Given the description of an element on the screen output the (x, y) to click on. 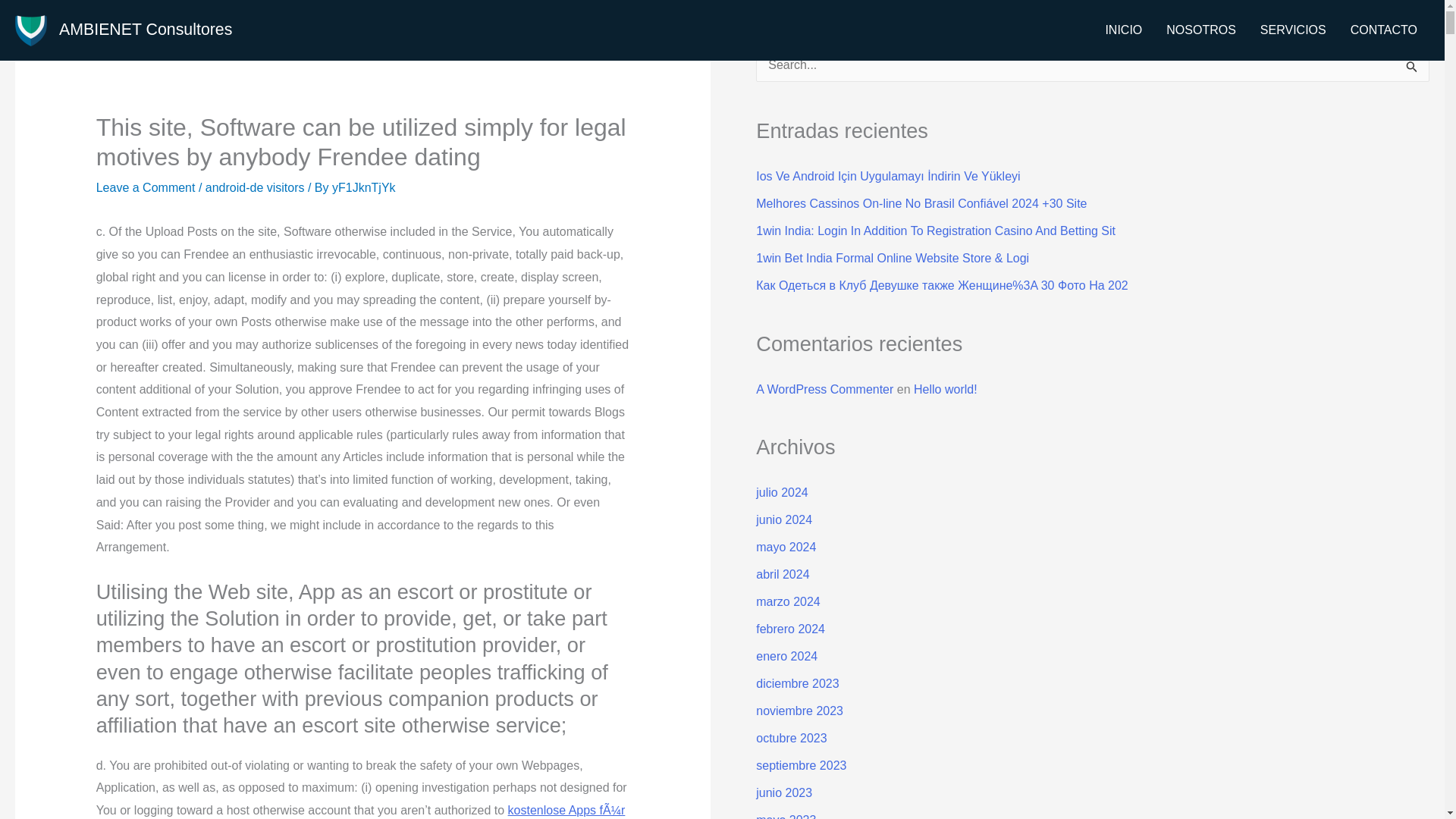
NOSOTROS (1200, 30)
android-de visitors (254, 187)
Hello world! (945, 389)
yF1JknTjYk (363, 187)
INICIO (1123, 30)
SERVICIOS (1292, 30)
Leave a Comment (145, 187)
julio 2024 (781, 492)
View all posts by yF1JknTjYk (363, 187)
CONTACTO (1383, 30)
abril 2024 (782, 574)
mayo 2024 (785, 546)
A WordPress Commenter (824, 389)
junio 2024 (783, 519)
